Given the description of an element on the screen output the (x, y) to click on. 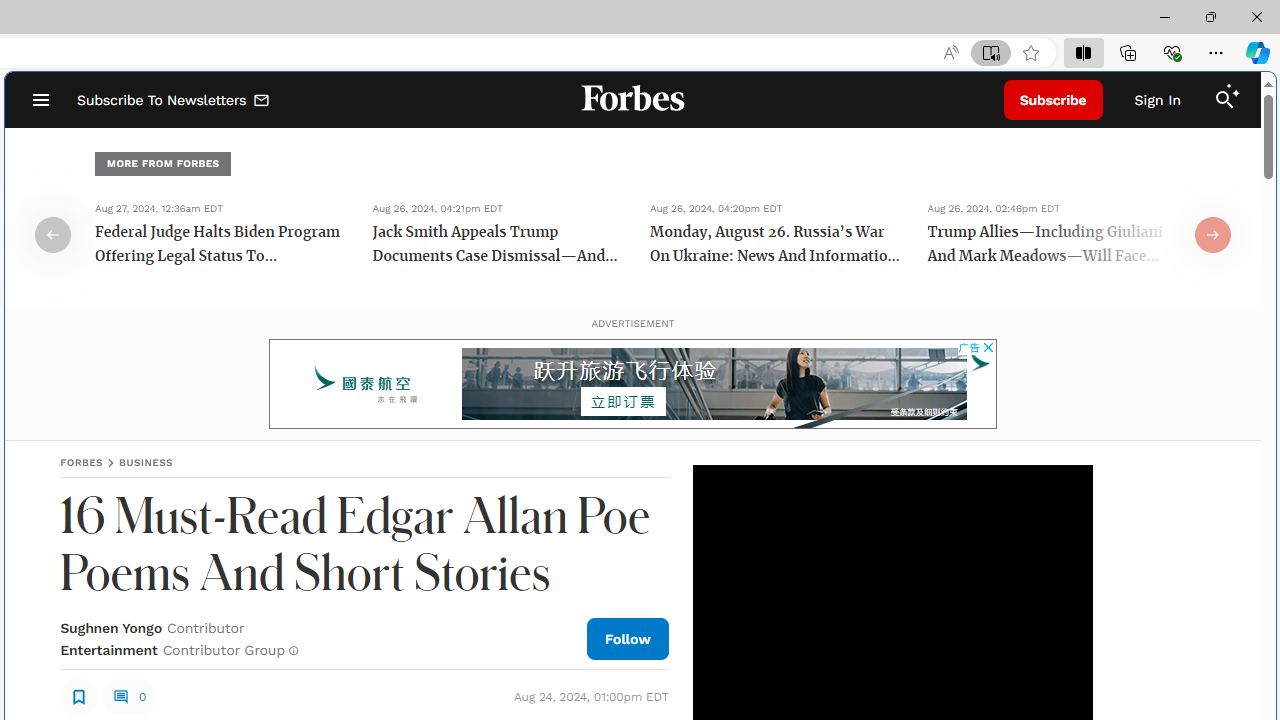
Sughnen Yongo (111, 628)
Class: fs-icon fs-icon--arrow-right (1212, 234)
Arrow Left (52, 234)
Class: sElHJWe4 (79, 696)
Follow Author (627, 638)
Class: fs-icon fs-icon--info (293, 650)
